Given the description of an element on the screen output the (x, y) to click on. 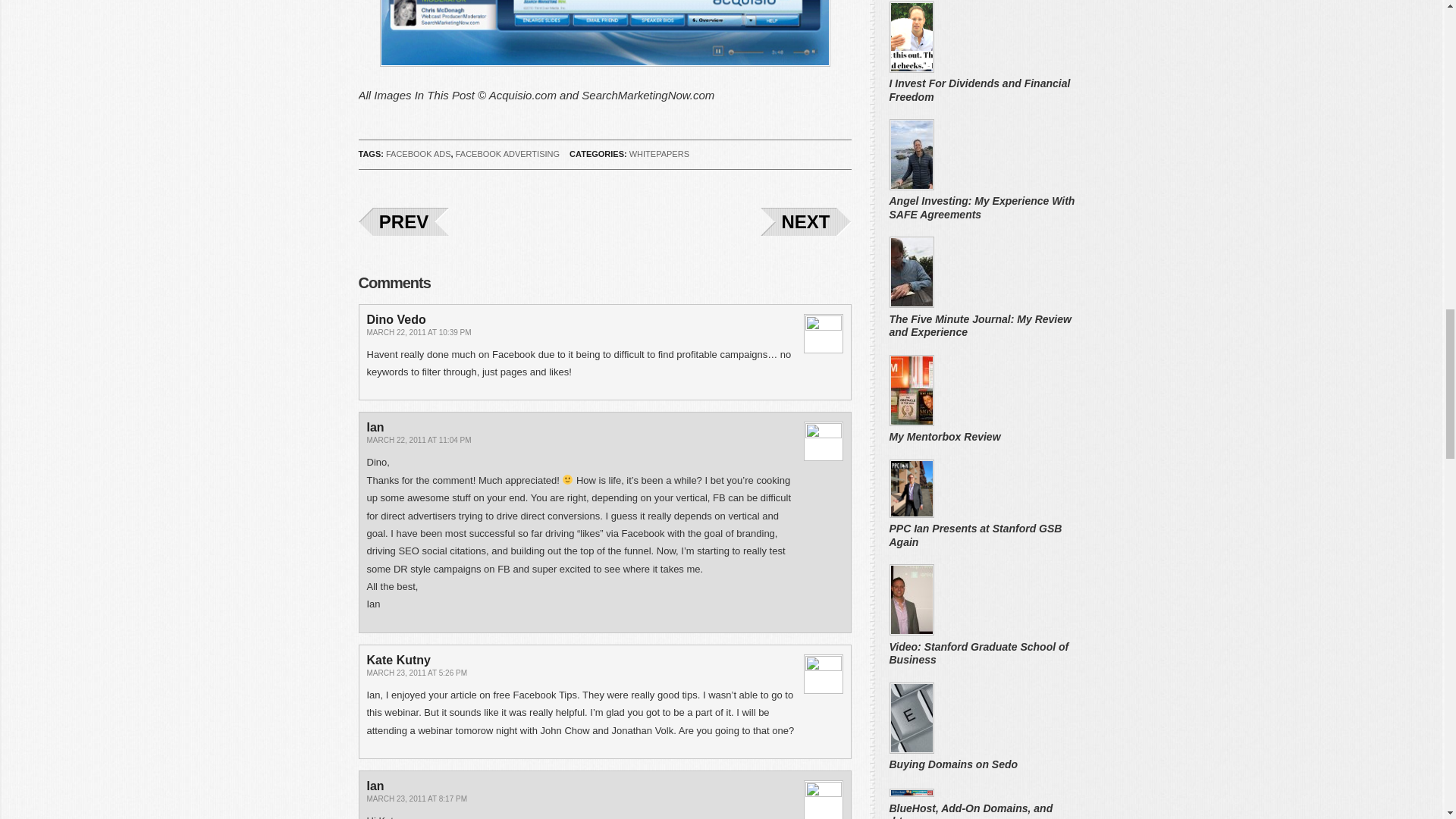
Facebook Webinar (603, 33)
MARCH 23, 2011 AT 8:17 PM (416, 798)
Kate Kutny (398, 659)
NEXT (805, 221)
MARCH 22, 2011 AT 10:39 PM (418, 332)
MARCH 22, 2011 AT 11:04 PM (418, 439)
FACEBOOK ADS (418, 153)
FACEBOOK ADVERTISING (507, 153)
PREV (403, 221)
MARCH 23, 2011 AT 5:26 PM (416, 673)
WHITEPAPERS (658, 153)
Dino Vedo (396, 318)
